Given the description of an element on the screen output the (x, y) to click on. 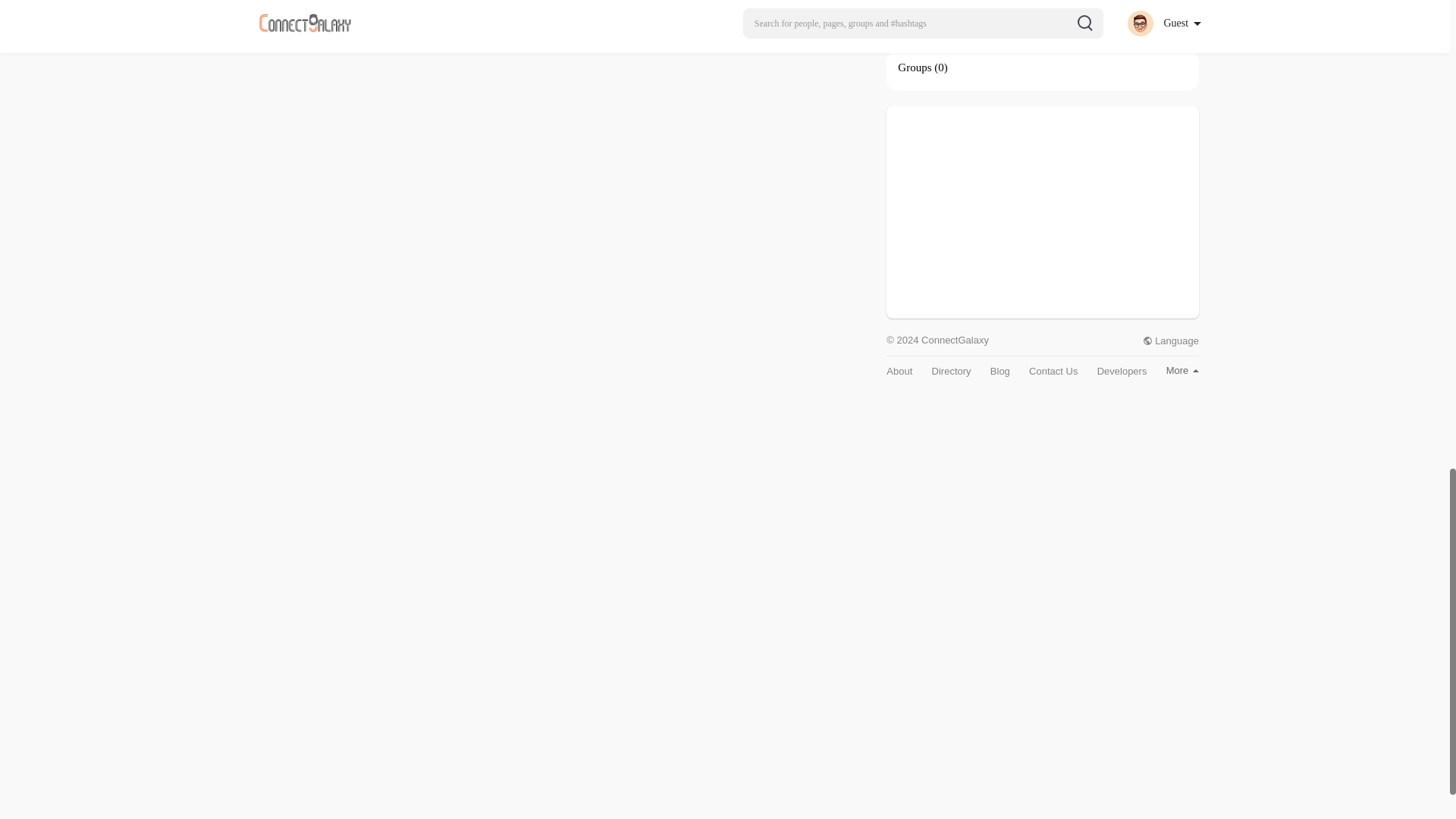
Contact Us (1053, 370)
About (899, 370)
Groups (914, 67)
Developers (1122, 370)
Language (1170, 340)
Advertisement (1042, 212)
Directory (951, 370)
Blog (1000, 370)
ConnectGalaxy (917, 11)
More (1182, 369)
